Given the description of an element on the screen output the (x, y) to click on. 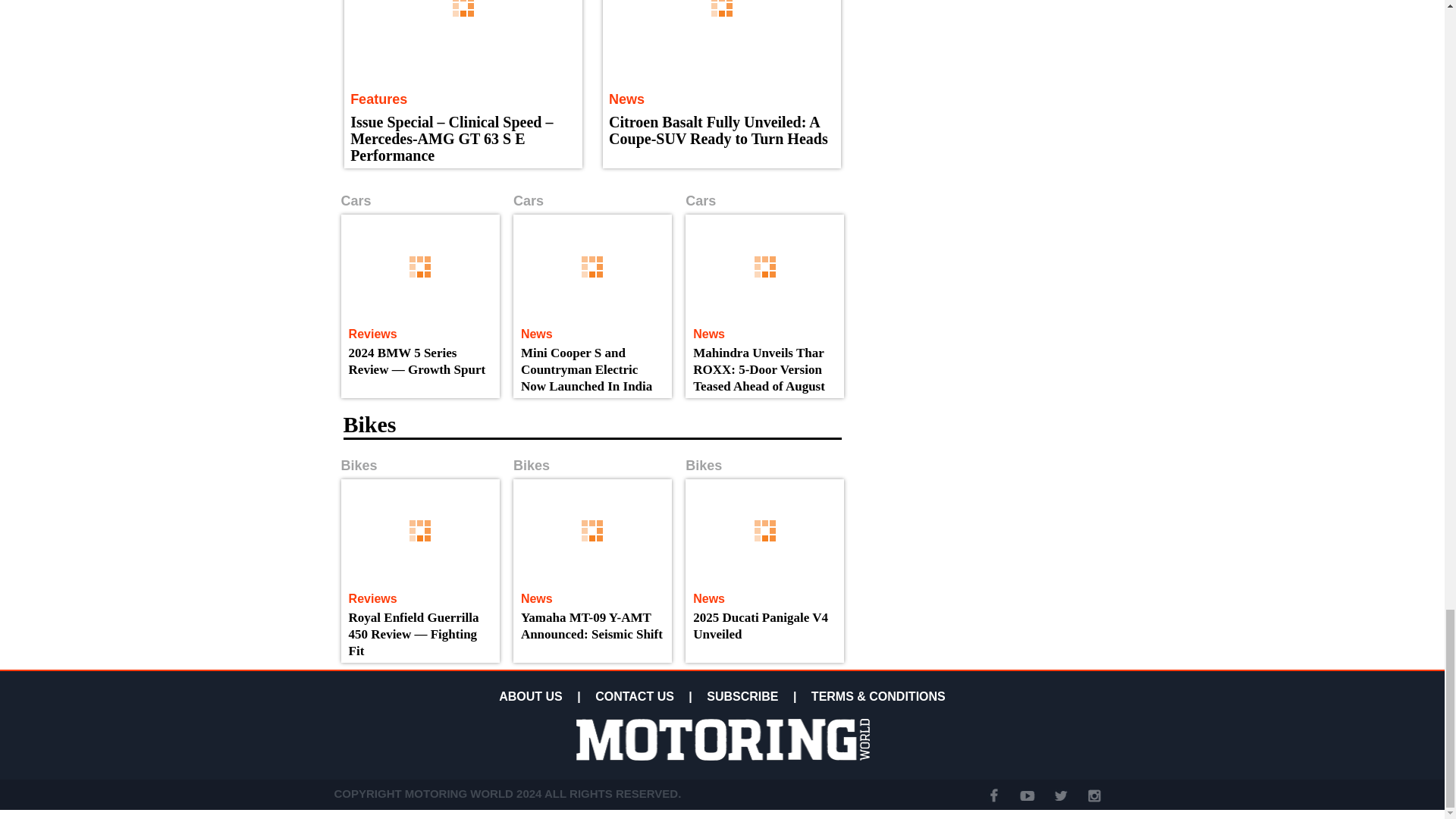
Advertisement (980, 31)
